Given the description of an element on the screen output the (x, y) to click on. 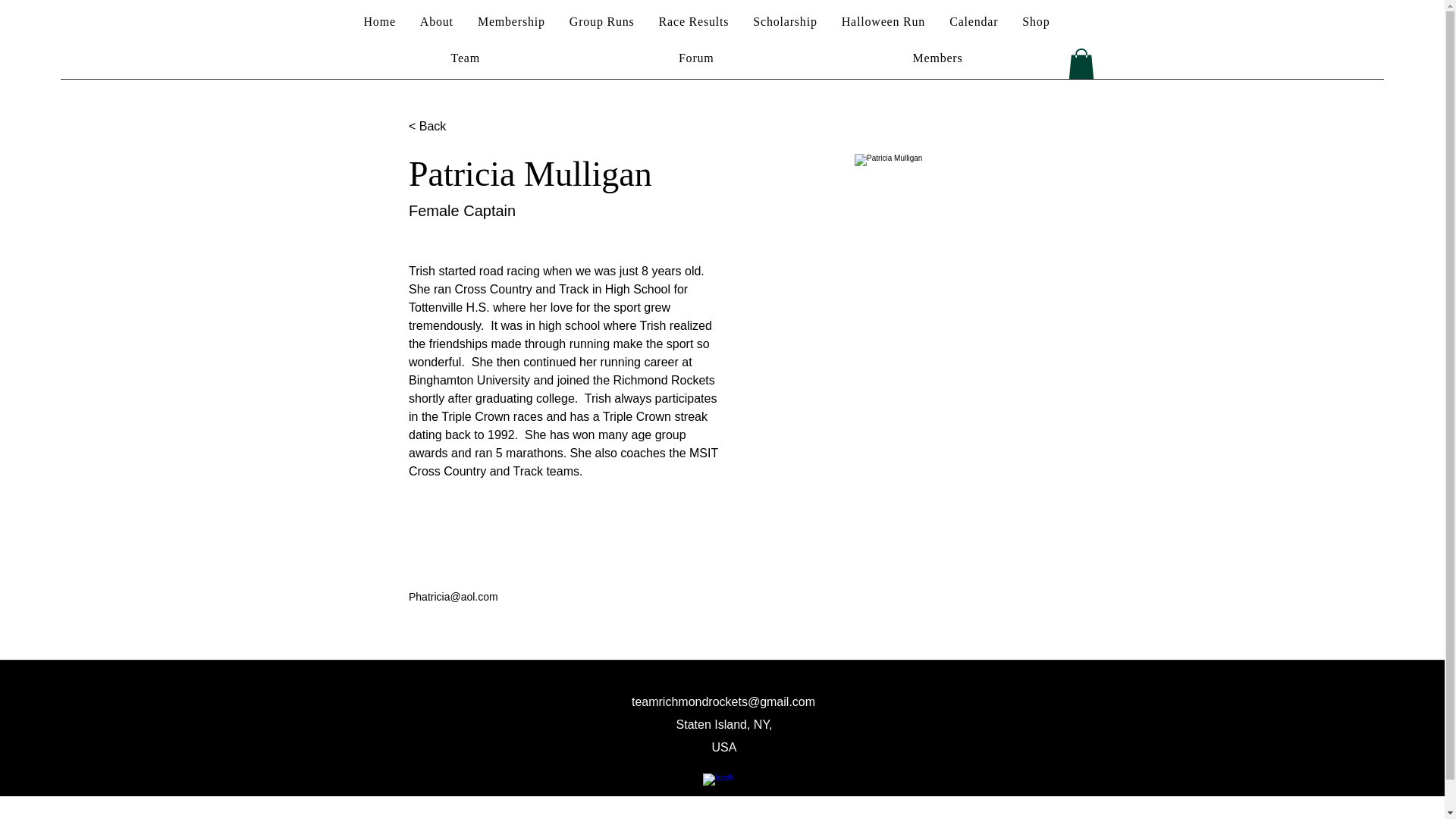
Home (379, 21)
Scholarship (784, 21)
Members (937, 58)
Group Runs (601, 21)
Membership (511, 21)
About (436, 21)
Team (465, 58)
Shop (1035, 21)
Halloween Run (883, 21)
Calendar (973, 21)
